Given the description of an element on the screen output the (x, y) to click on. 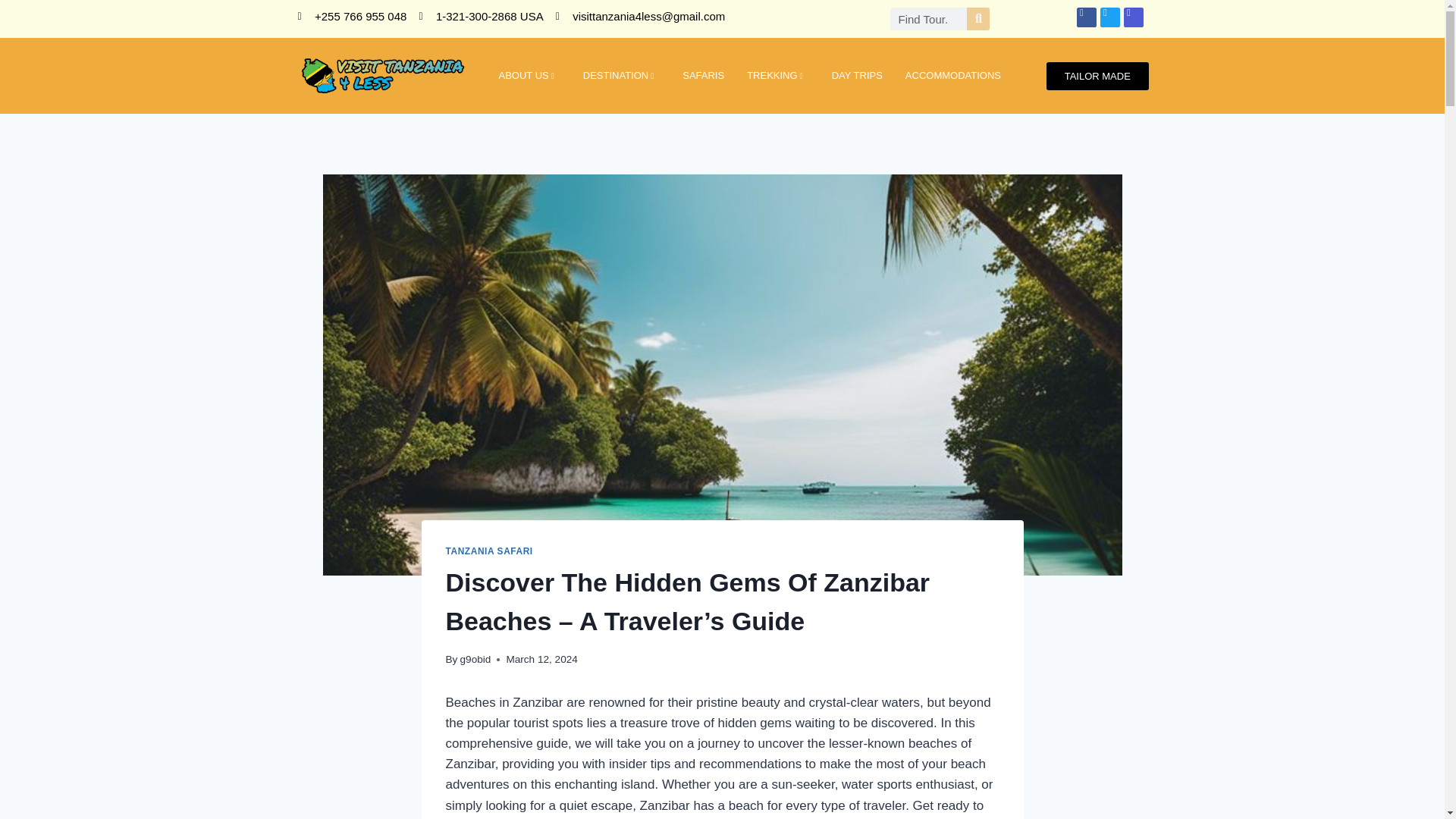
SAFARIS (703, 75)
ABOUT US (528, 75)
TANZANIA SAFARI (488, 551)
DAY TRIPS (857, 75)
TAILOR MADE (1097, 76)
DESTINATION (621, 75)
TREKKING (778, 75)
ACCOMMODATIONS (952, 75)
g9obid (476, 659)
